Given the description of an element on the screen output the (x, y) to click on. 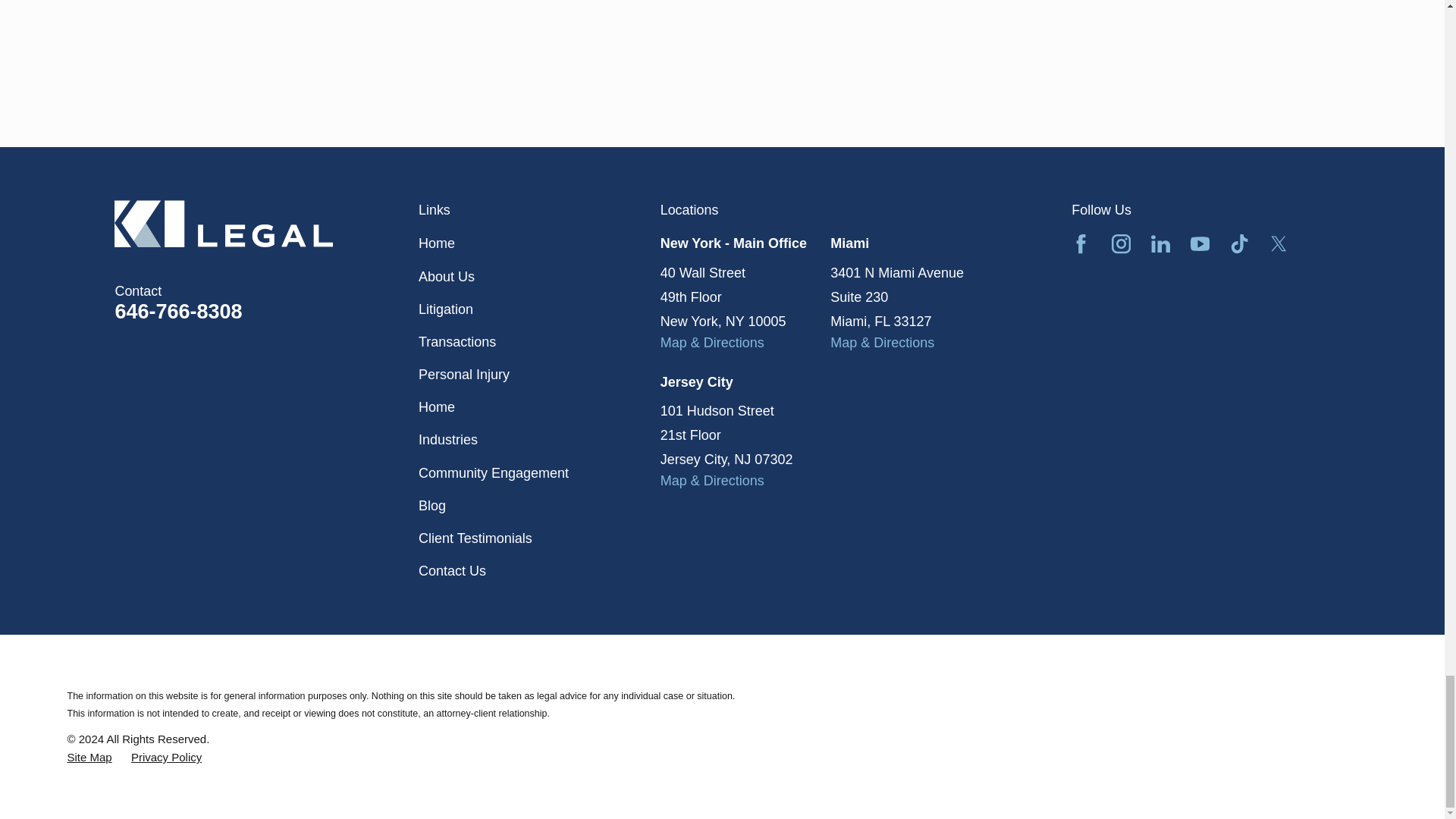
Instagram (1121, 243)
KI Legal (224, 223)
Facebook (1080, 243)
Home (267, 223)
